Given the description of an element on the screen output the (x, y) to click on. 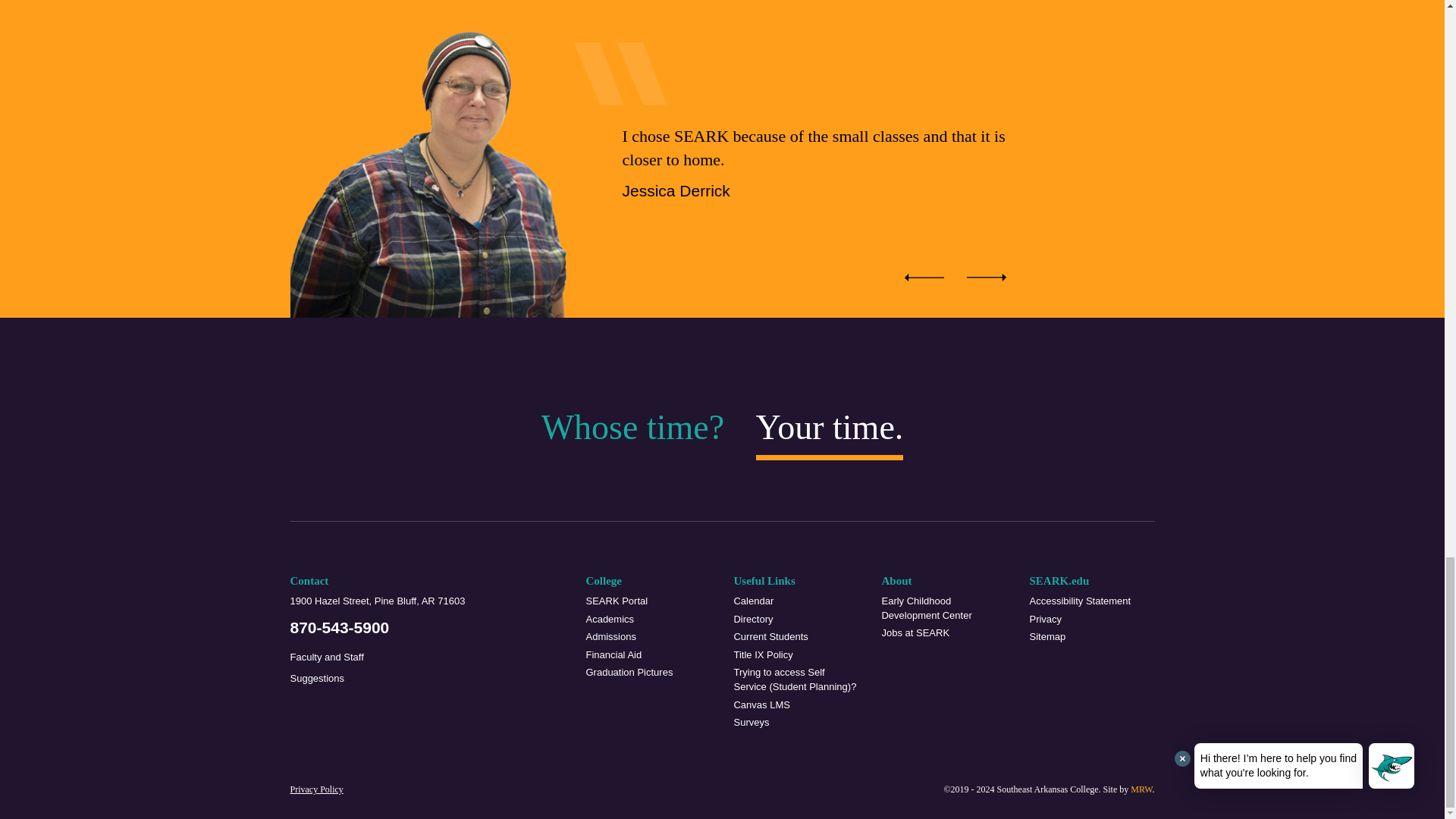
Education Amendments of 1972 (796, 655)
Student Planning (796, 679)
link to seark portal (796, 705)
Surveys conducted by Southeast Arkansas College (796, 722)
Link to graduation pictures (647, 672)
